Given the description of an element on the screen output the (x, y) to click on. 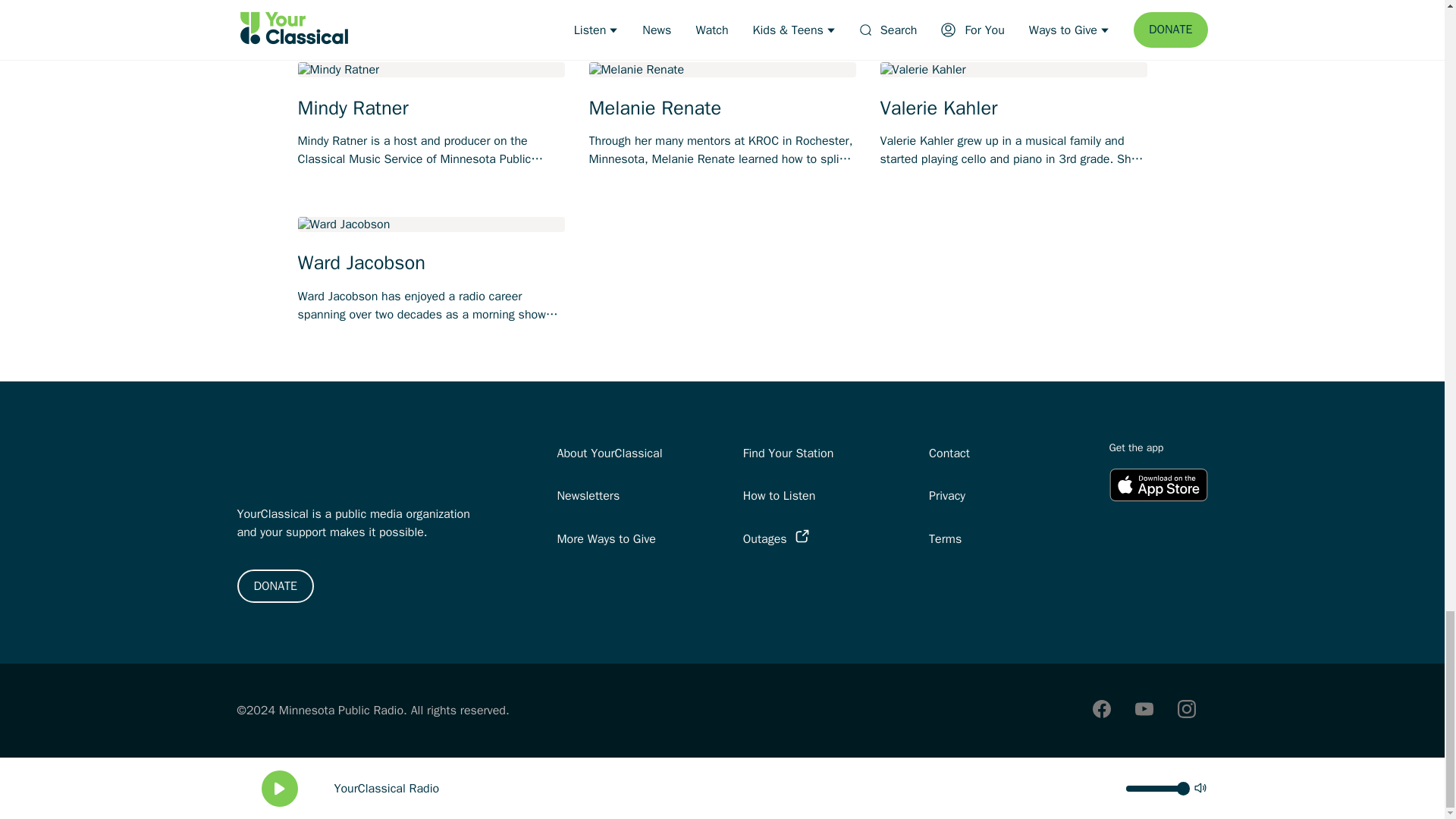
Valerie Kahler (1013, 108)
Melanie Renate (722, 108)
Mindy Ratner (430, 108)
Ward Jacobson (430, 263)
